Given the description of an element on the screen output the (x, y) to click on. 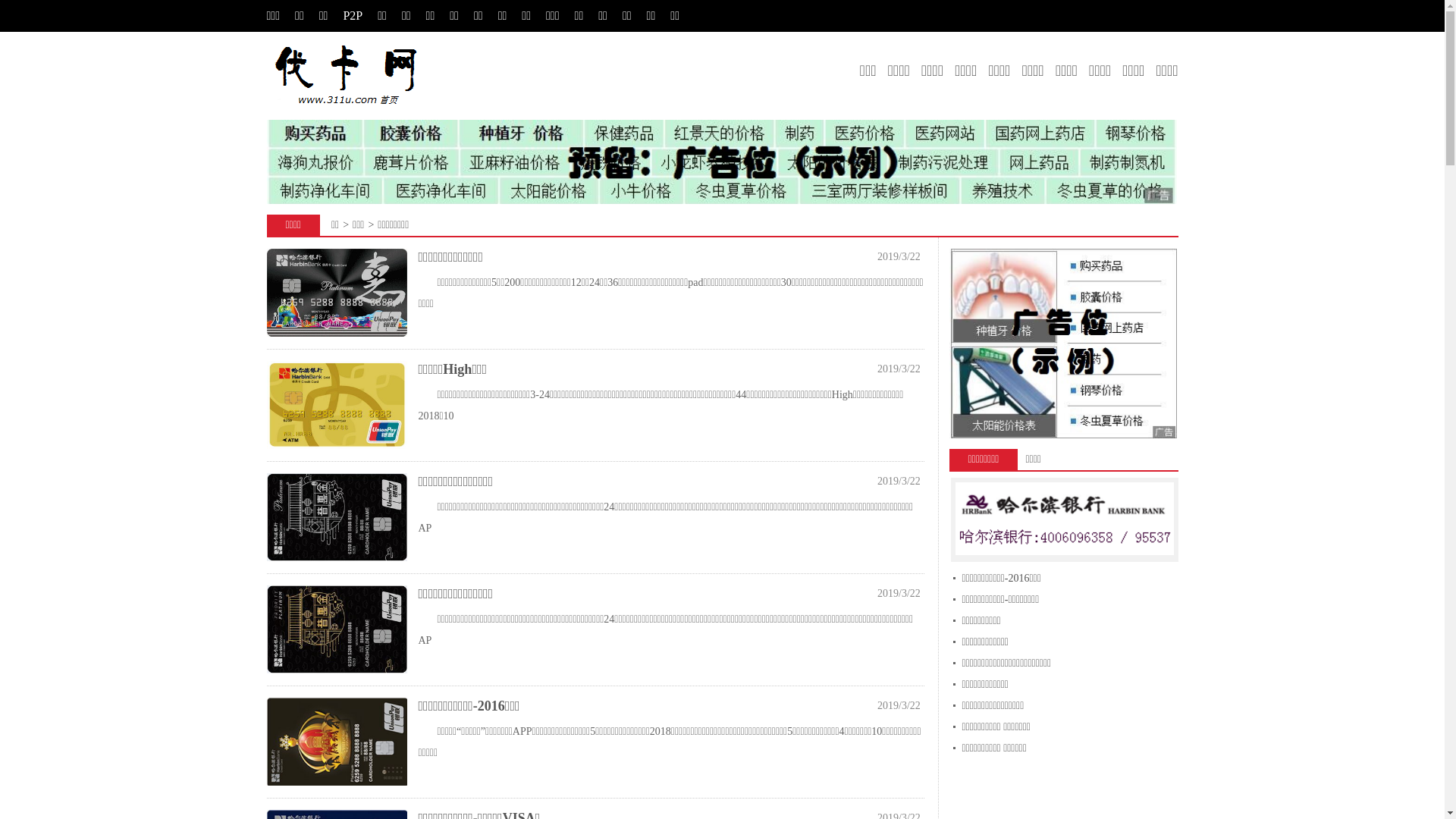
P2P Element type: text (352, 15)
